Given the description of an element on the screen output the (x, y) to click on. 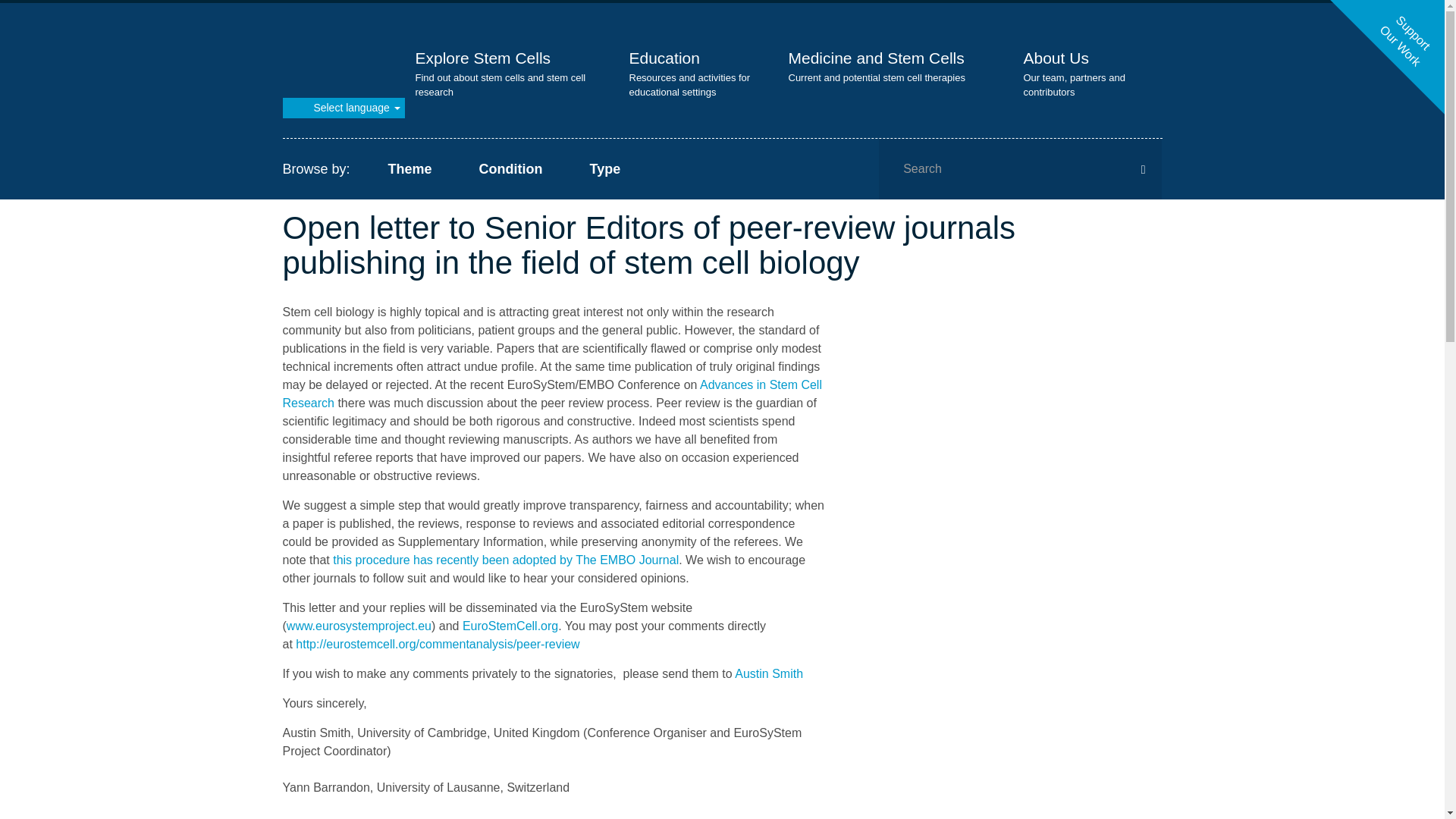
Explore Stem Cells (482, 57)
Resources and activities for educational settings (664, 57)
Enter the terms you wish to search for. (1020, 168)
Home (339, 54)
Find out about stem cells and stem cell research (482, 57)
Our team, partners and contributors (1056, 57)
Current and potential stem cell therapies (876, 57)
About Us (1056, 57)
Education (664, 57)
